Given the description of an element on the screen output the (x, y) to click on. 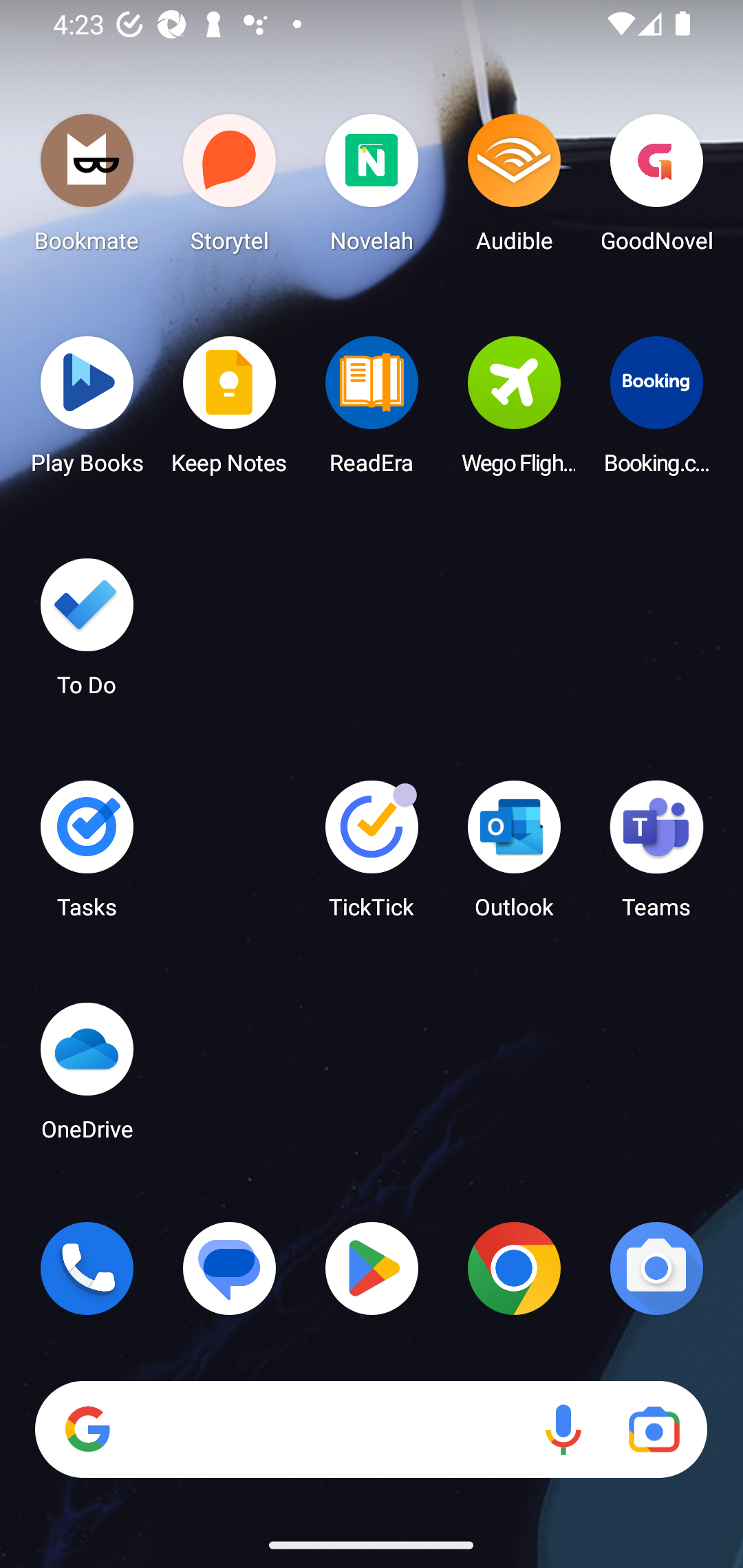
Bookmate (86, 188)
Storytel (229, 188)
Novelah (371, 188)
Audible (513, 188)
GoodNovel (656, 188)
Play Books (86, 410)
Keep Notes (229, 410)
ReadEra (371, 410)
Wego Flights & Hotels (513, 410)
Booking.com (656, 410)
To Do (86, 633)
Tasks (86, 854)
TickTick TickTick has 3 notifications (371, 854)
Outlook (513, 854)
Teams (656, 854)
OneDrive (86, 1076)
Phone (86, 1268)
Messages (229, 1268)
Play Store (371, 1268)
Chrome (513, 1268)
Camera (656, 1268)
Voice search (562, 1429)
Google Lens (653, 1429)
